Given the description of an element on the screen output the (x, y) to click on. 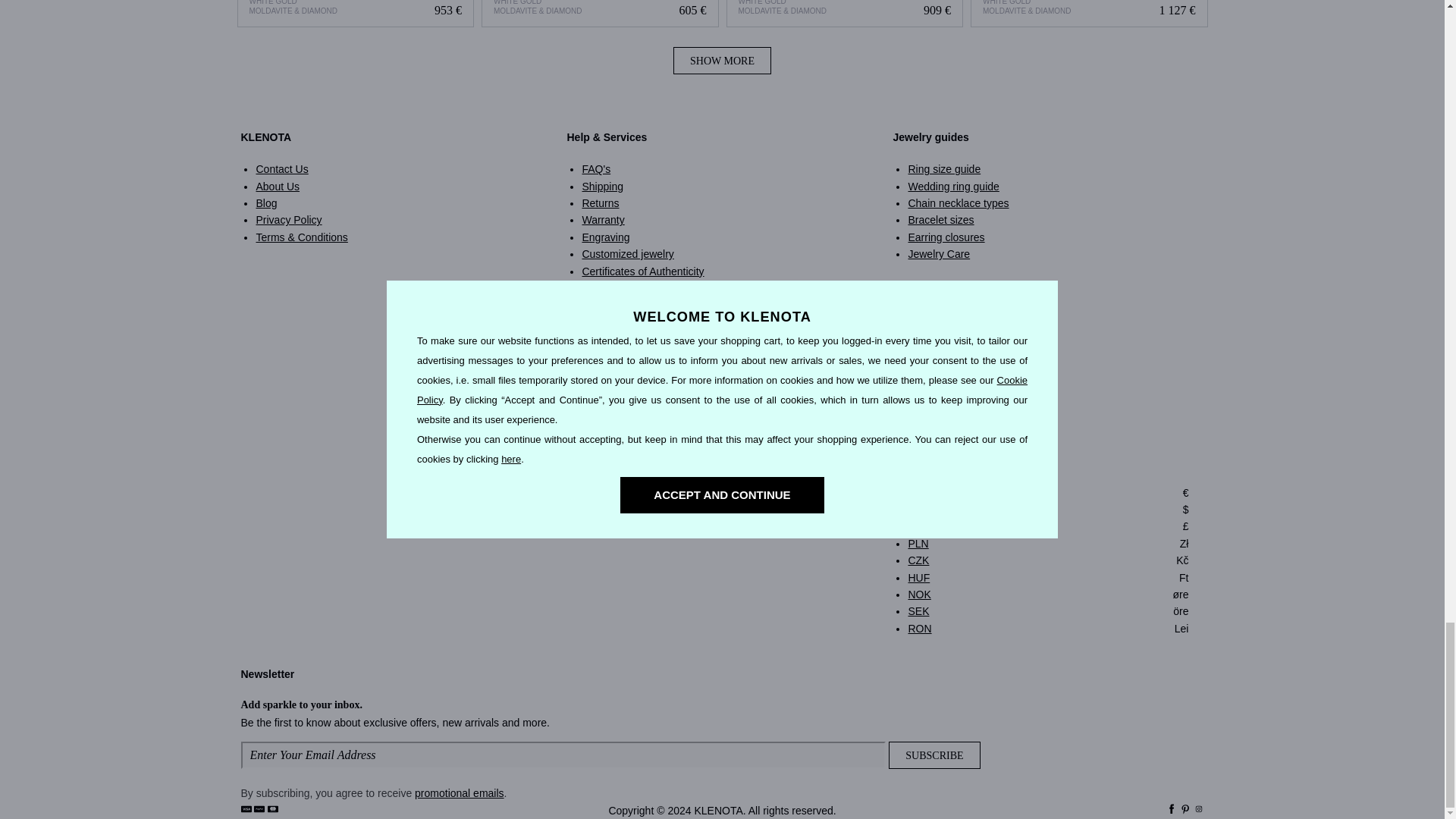
Moldavite Necklace with Diamonds in White Gold (844, 13)
Moldavite Ring with Brilliants in White Gold (356, 13)
Moldavite Necklace with Diamonds in White Gold (844, 13)
Moldavite and Diamond Earrings in White Gold (1089, 13)
White Gold Earrings with Moldavite and Diamonds (600, 13)
White Gold Earrings with Moldavite and Diamonds (599, 13)
Moldavite and Diamond Earrings in White Gold (1089, 13)
Moldavite Ring with Brilliants in White Gold (354, 13)
